Given the description of an element on the screen output the (x, y) to click on. 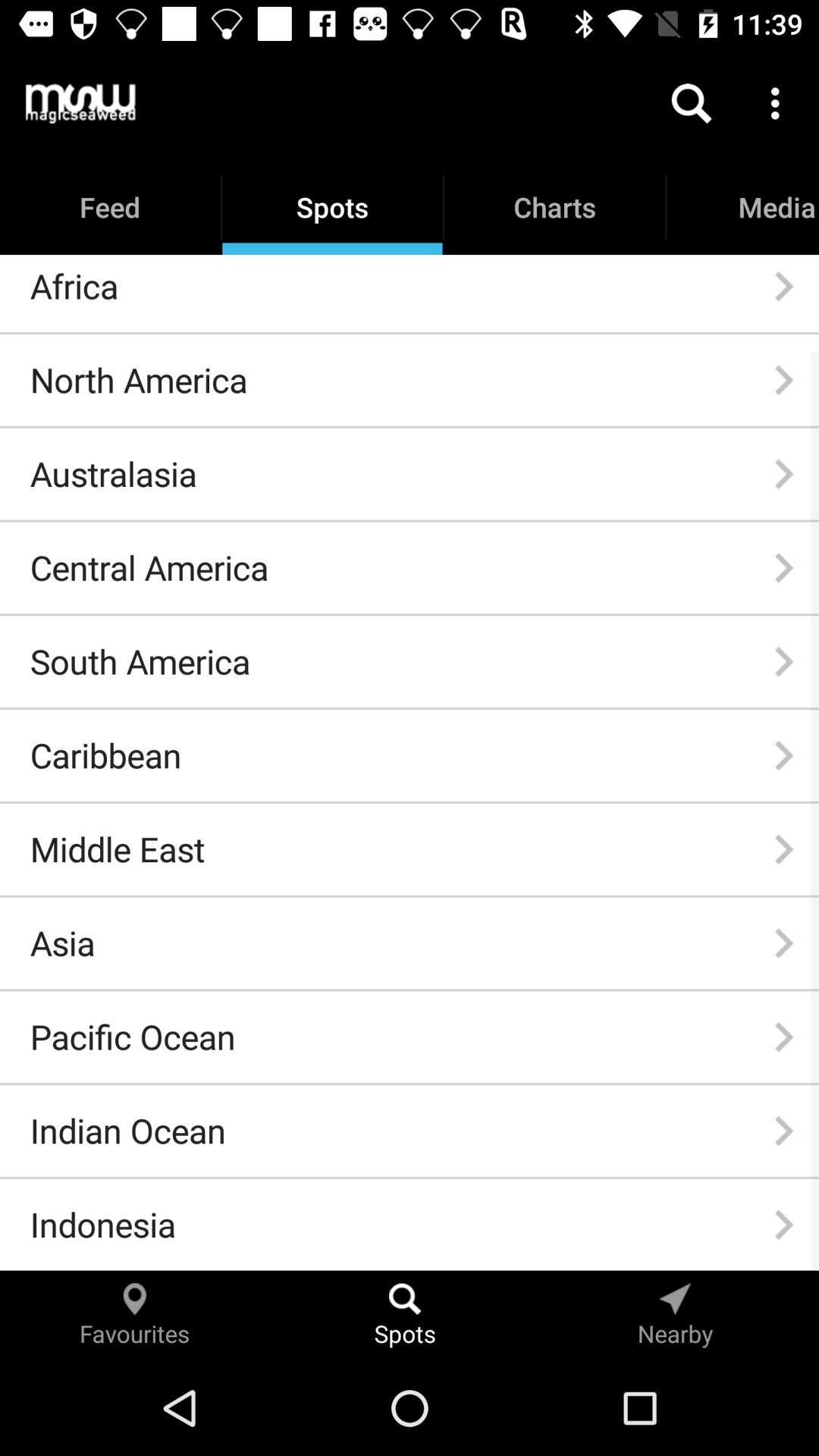
open icon below the central america (140, 661)
